Given the description of an element on the screen output the (x, y) to click on. 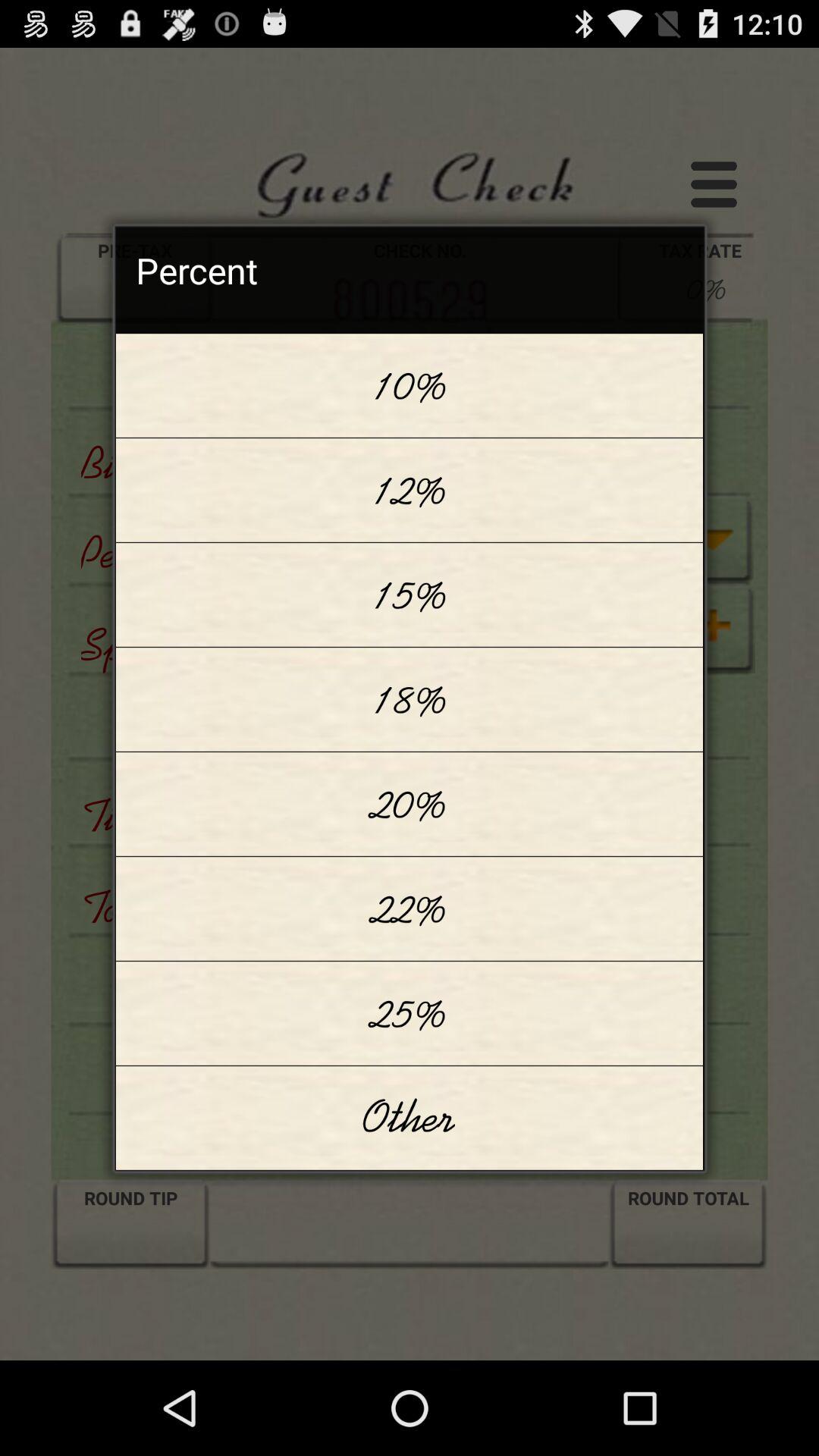
tap icon above the other (409, 1012)
